Given the description of an element on the screen output the (x, y) to click on. 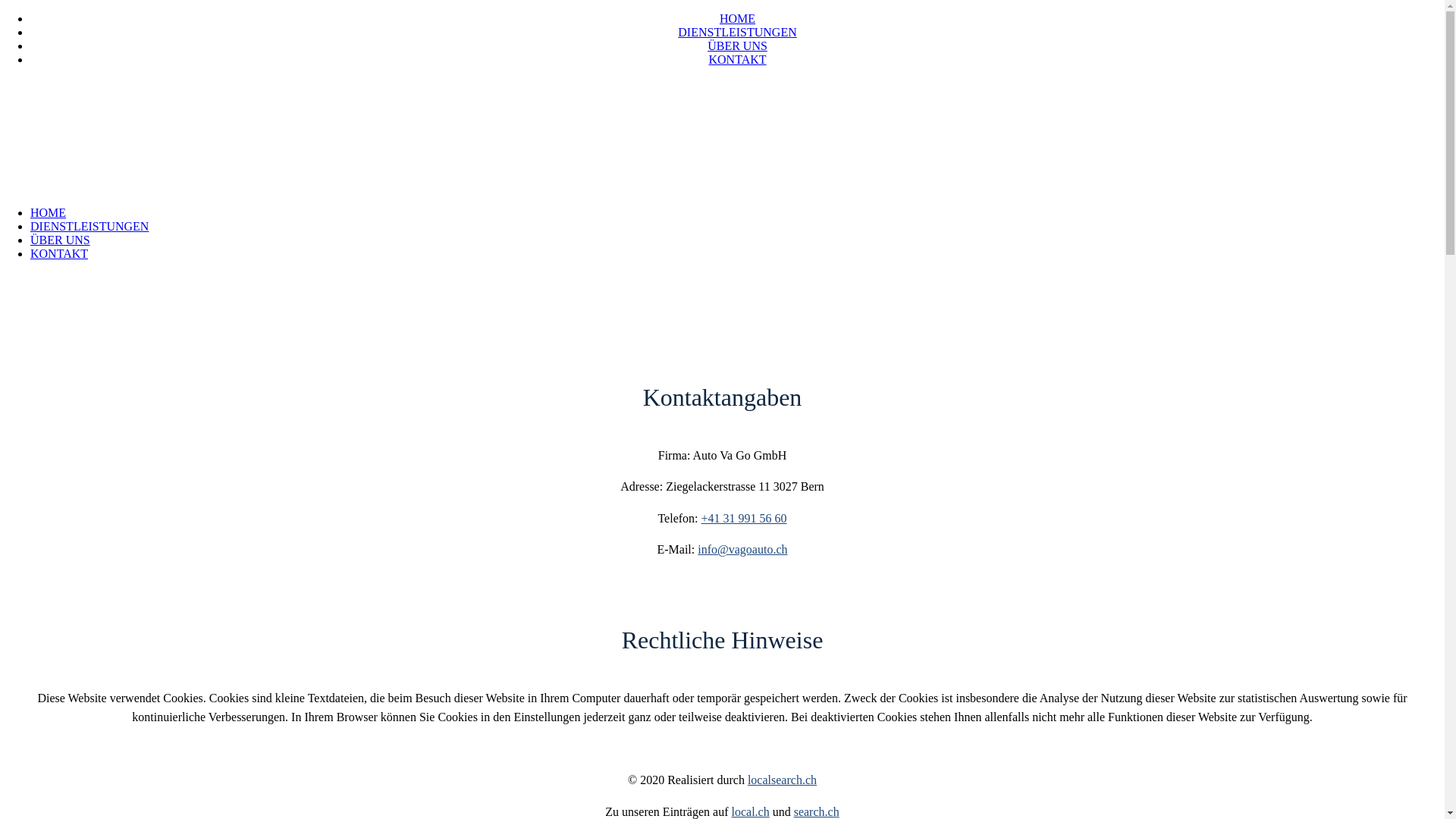
KONTAKT Element type: text (58, 253)
KONTAKT Element type: text (736, 59)
DIENSTLEISTUNGEN Element type: text (89, 225)
HOME Element type: text (737, 18)
search.ch Element type: text (816, 811)
AUTO VA GO GMBH Element type: text (118, 107)
localsearch.ch Element type: text (781, 779)
info@vagoauto.ch Element type: text (742, 548)
DIENSTLEISTUNGEN Element type: text (736, 31)
local.ch Element type: text (749, 811)
HOME Element type: text (47, 212)
AUTO VA GO GMBH Element type: text (118, 164)
+41 31 991 56 60 Element type: text (744, 517)
